Given the description of an element on the screen output the (x, y) to click on. 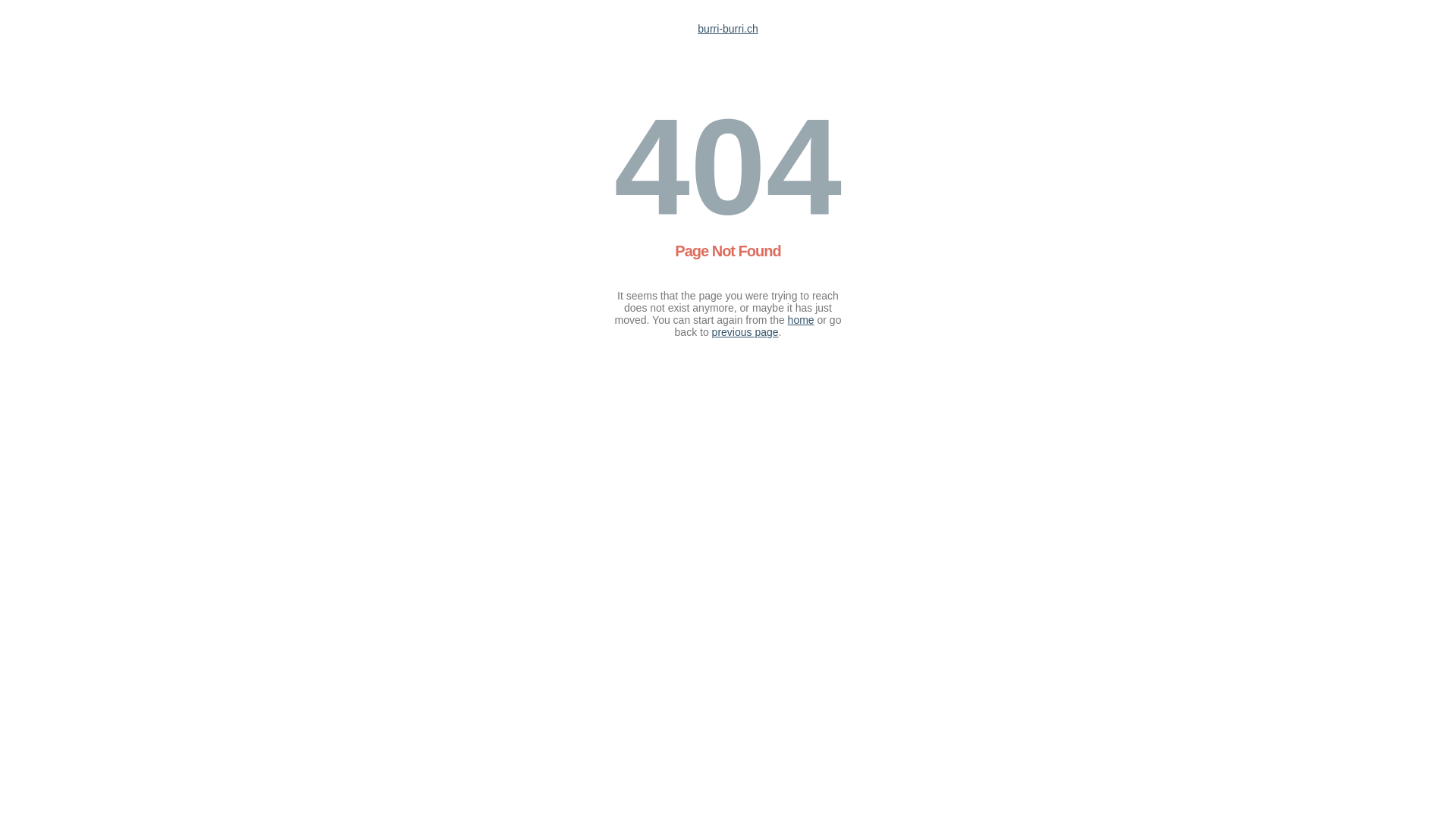
home Element type: text (800, 319)
previous page Element type: text (745, 332)
burri-burri.ch Element type: text (727, 28)
